Given the description of an element on the screen output the (x, y) to click on. 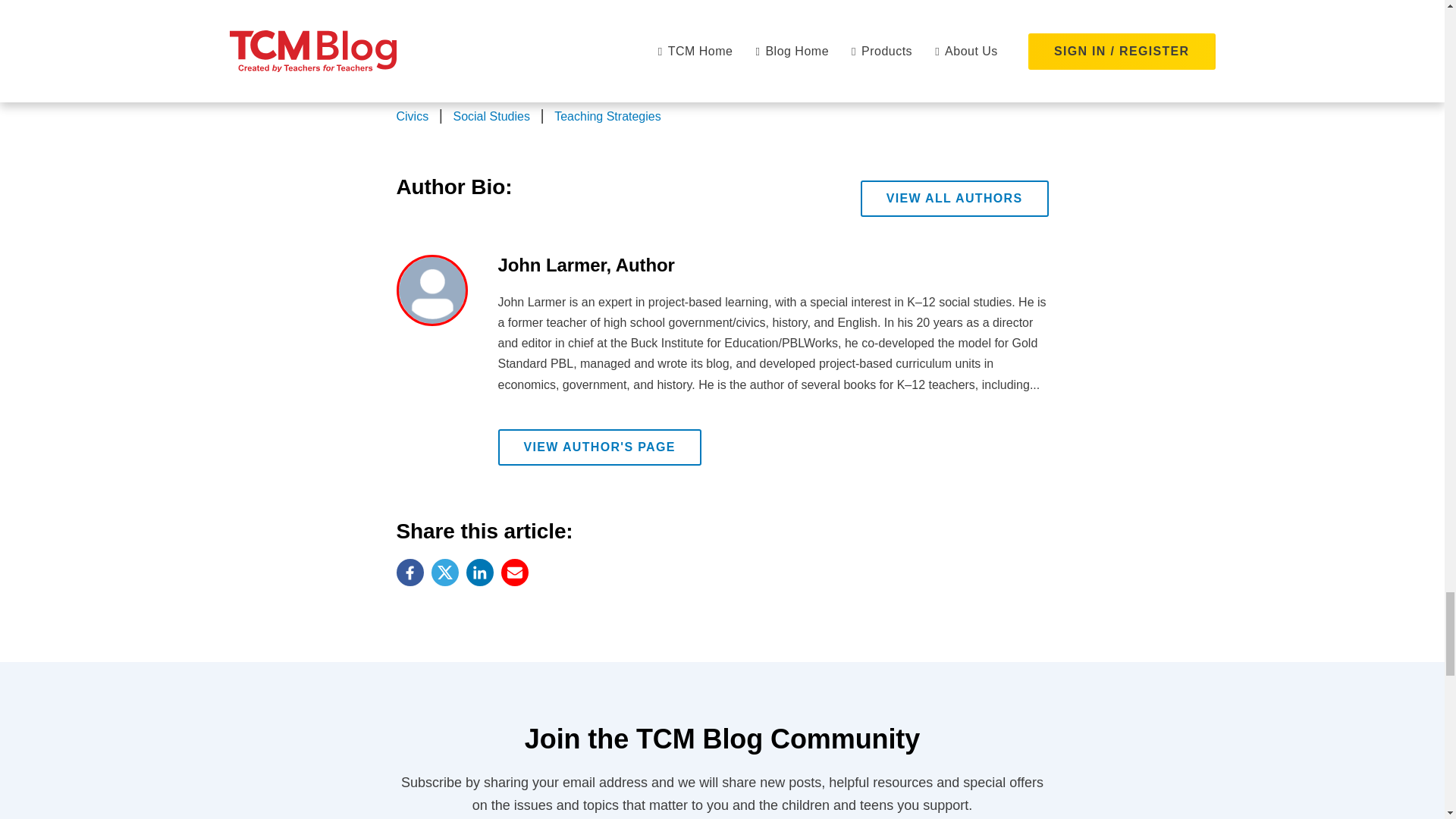
Teaching Strategies (607, 115)
VIEW ALL AUTHORS (954, 198)
Social Studies (490, 115)
VIEW AUTHOR'S PAGE (598, 447)
Civics (412, 115)
